Given the description of an element on the screen output the (x, y) to click on. 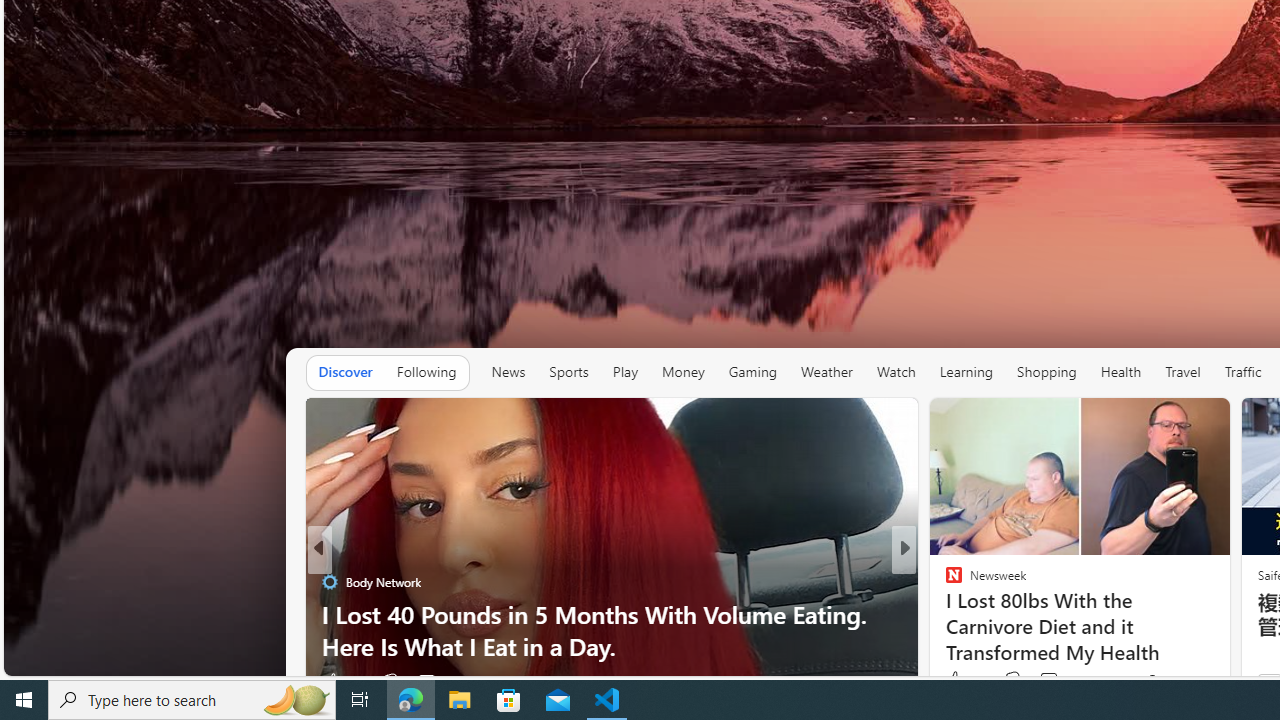
You're following Newsweek (1179, 679)
View comments 73 Comment (1057, 680)
Learning (965, 371)
The Passport Kitchen (944, 614)
6 Like (952, 681)
Health (1121, 371)
Health (1121, 372)
